Given the description of an element on the screen output the (x, y) to click on. 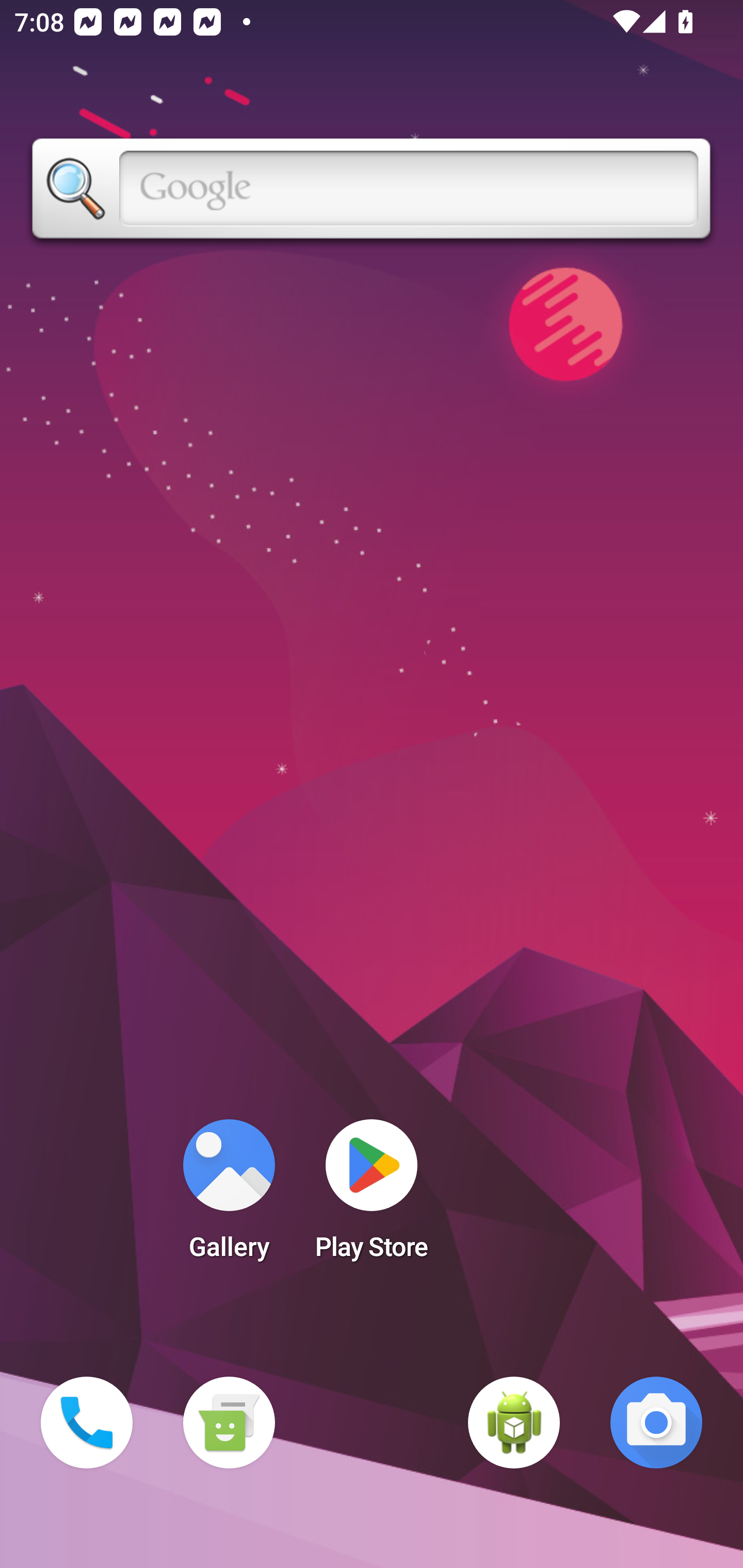
Gallery (228, 1195)
Play Store (371, 1195)
Phone (86, 1422)
Messaging (228, 1422)
WebView Browser Tester (513, 1422)
Camera (656, 1422)
